Given the description of an element on the screen output the (x, y) to click on. 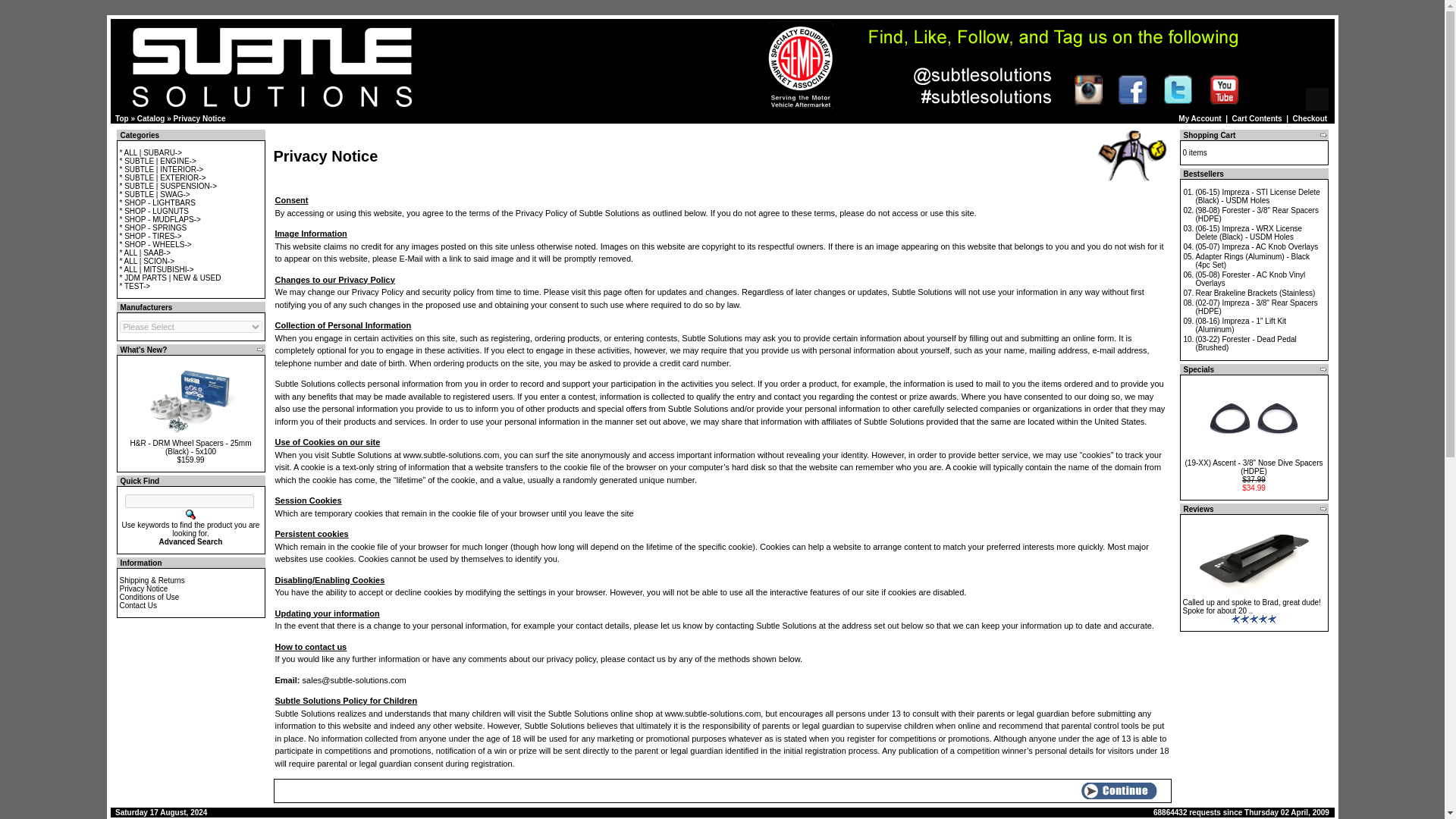
Contact Us (138, 605)
 Quick Find  (190, 513)
 Cart Contents  (1288, 98)
 more  (260, 348)
Advanced Search (190, 541)
 more  (1323, 369)
 more  (1323, 508)
Checkout (1309, 118)
Privacy Notice (199, 118)
Cart Contents (1256, 118)
